Given the description of an element on the screen output the (x, y) to click on. 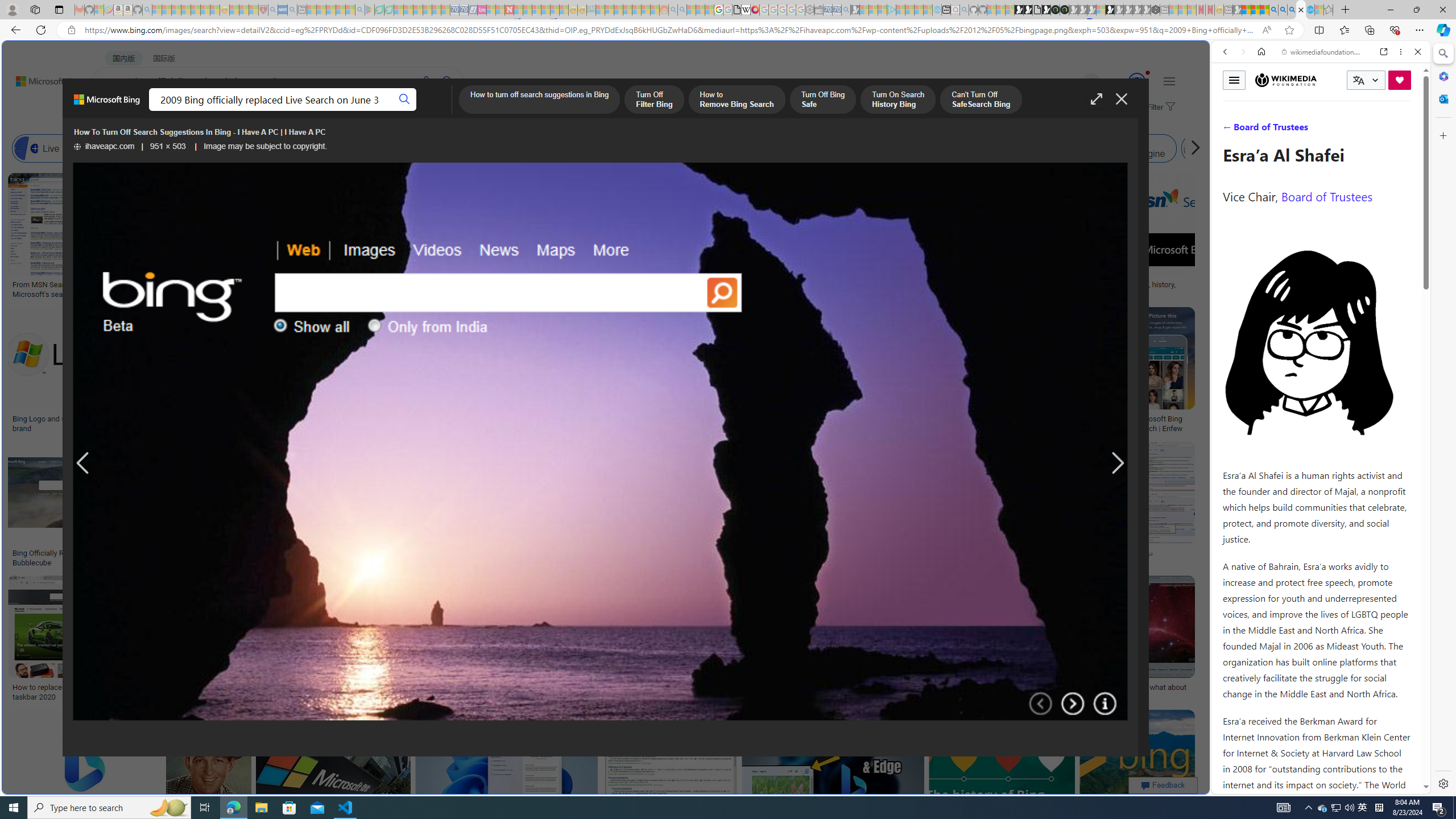
Live Search (57, 148)
Bing Word Search (403, 148)
Remove the 'News & Interests' bar from Bing | TechLifeSave (863, 371)
Bing AI - Search (1272, 9)
Play Zoo Boom in your browser | Games from Microsoft Start (1027, 9)
2009 Bing officially replaced Live Search on June 3 - Search (1283, 9)
Frequently visited (965, 151)
Image may be subject to copyright. (265, 146)
